Given the description of an element on the screen output the (x, y) to click on. 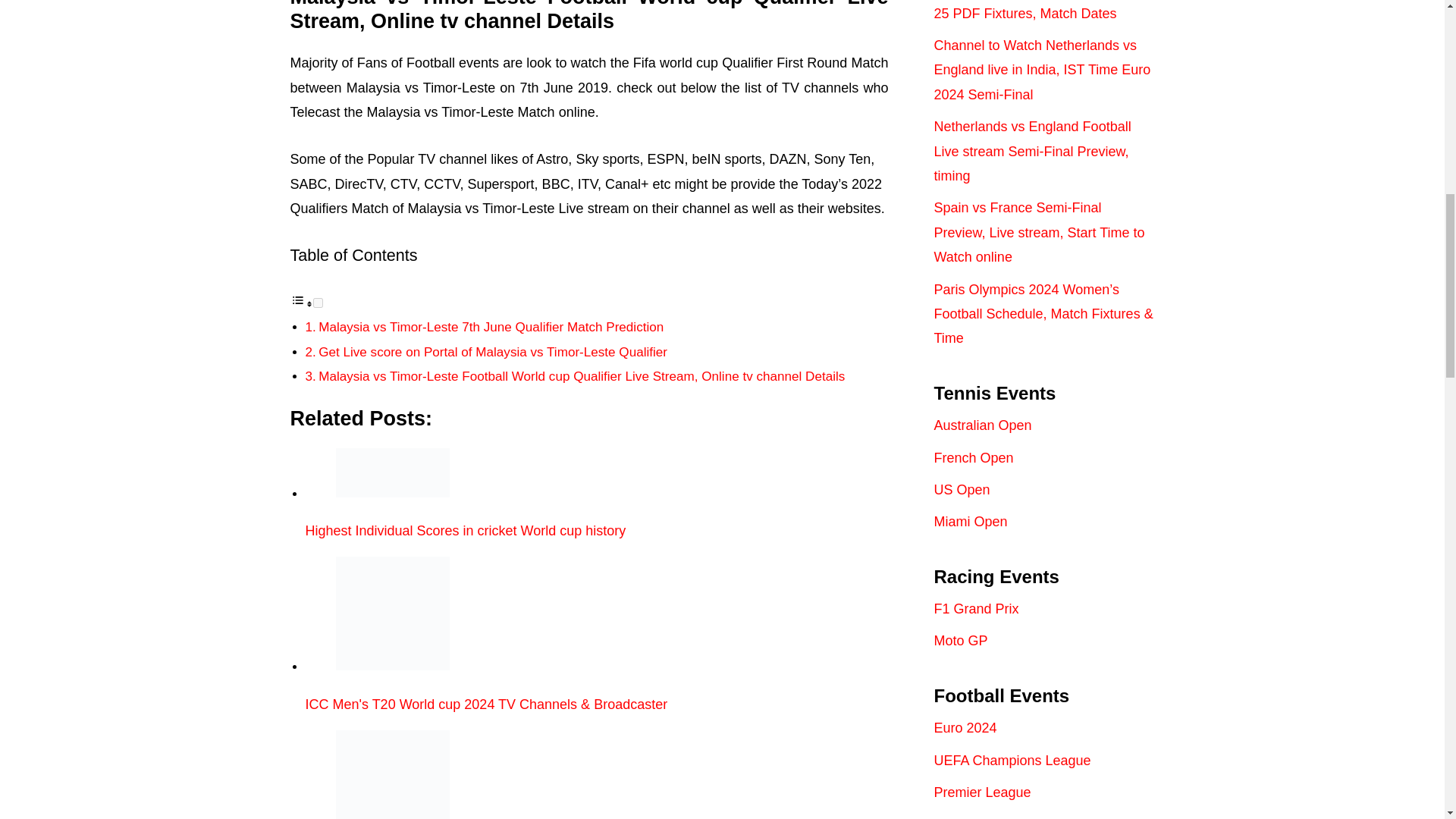
Highest Individual Scores in cricket World cup history (391, 472)
on (317, 302)
Malaysia vs Timor-Leste 7th June Qualifier Match Prediction (490, 327)
List of Top 10 Leg Spinners of All Time Cricket History (596, 774)
List of Top 10 Leg Spinners of All Time Cricket History (391, 774)
Highest Individual Scores in cricket World cup history (596, 492)
Malaysia vs Timor-Leste 7th June Qualifier Match Prediction (490, 327)
